Given the description of an element on the screen output the (x, y) to click on. 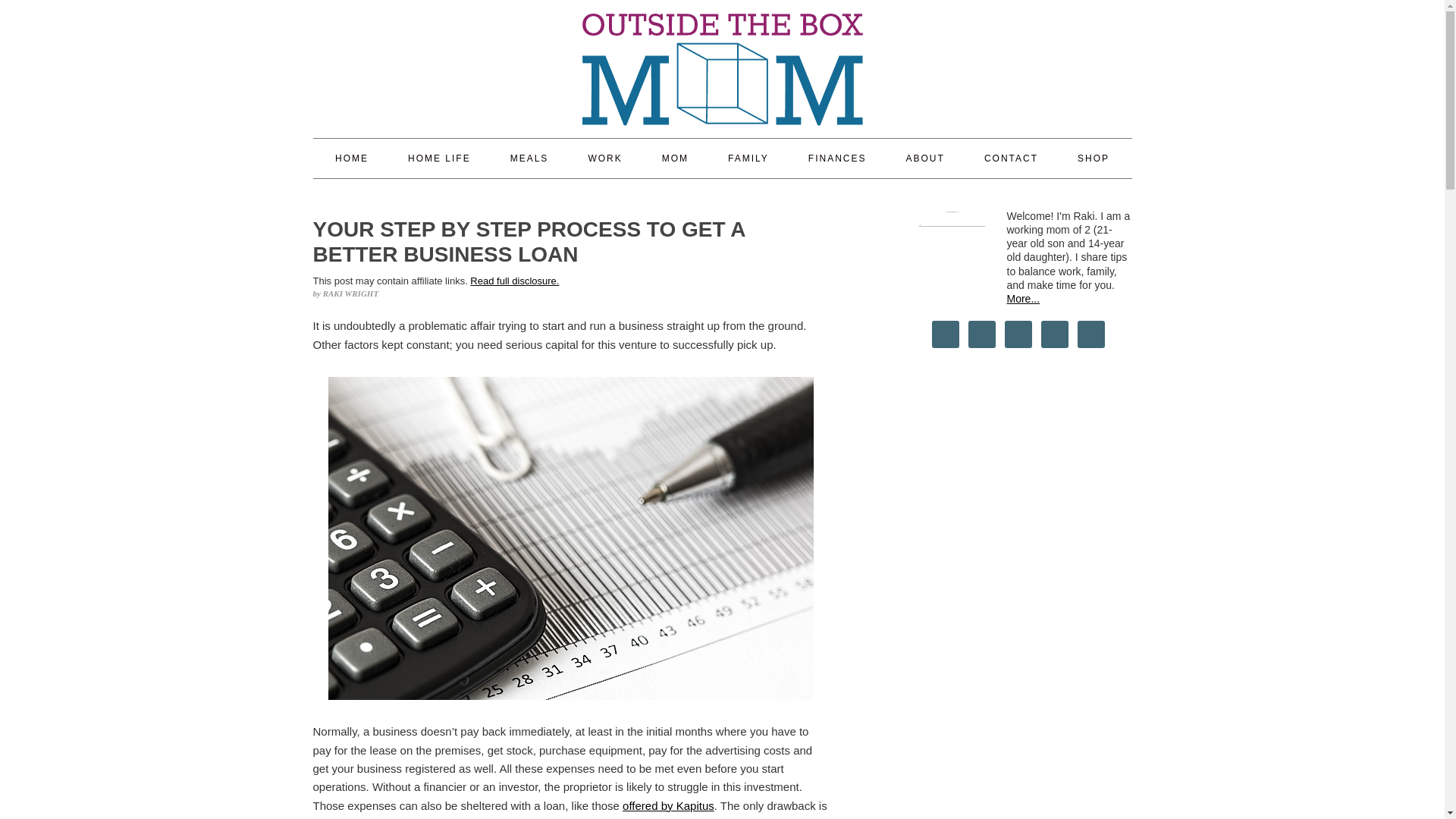
MEALS (529, 158)
HOME LIFE (438, 158)
WORK (604, 158)
MOM (675, 158)
FAMILY (748, 158)
HOME (351, 158)
